Given the description of an element on the screen output the (x, y) to click on. 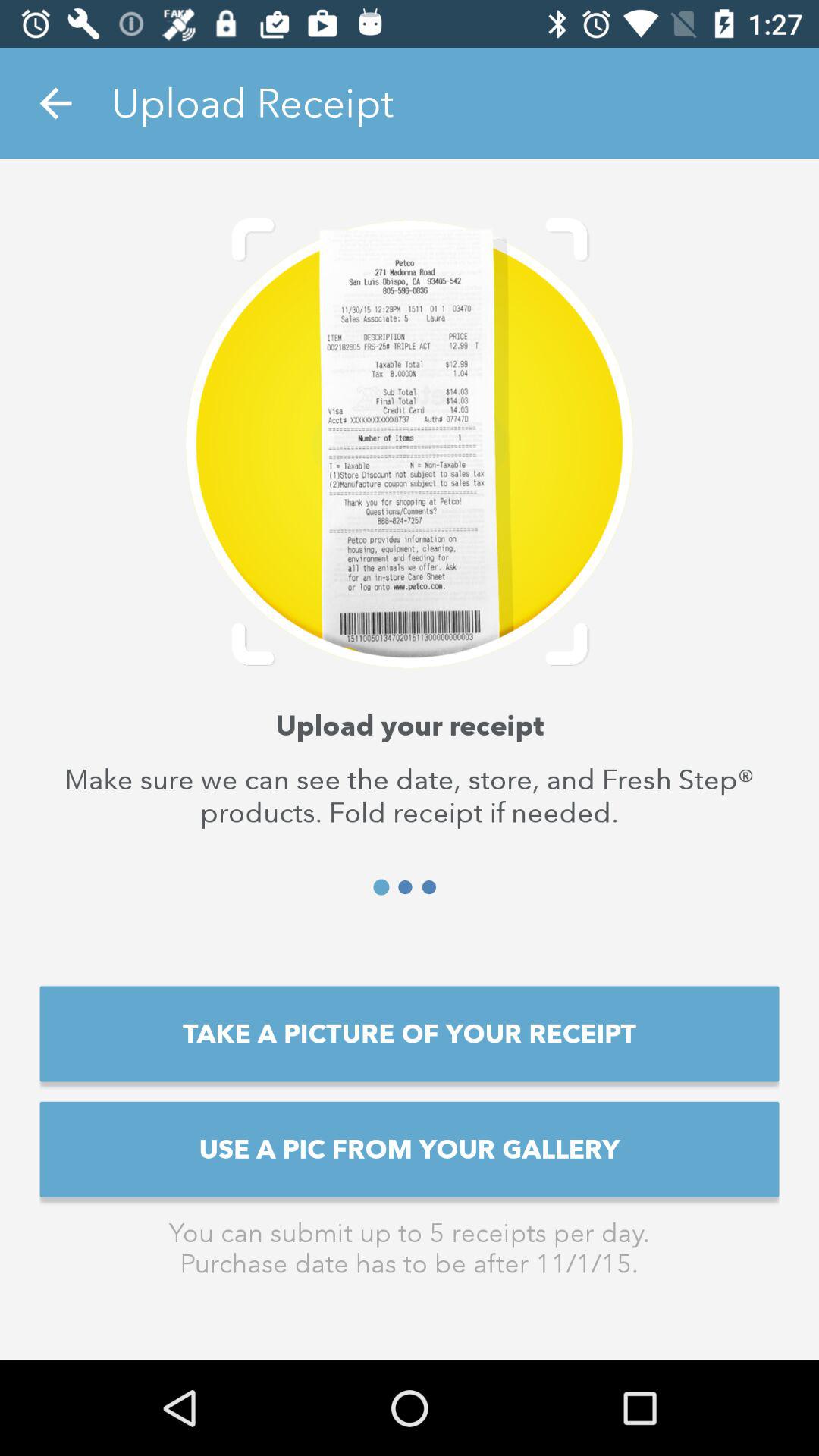
open the item above you can submit icon (409, 1149)
